Given the description of an element on the screen output the (x, y) to click on. 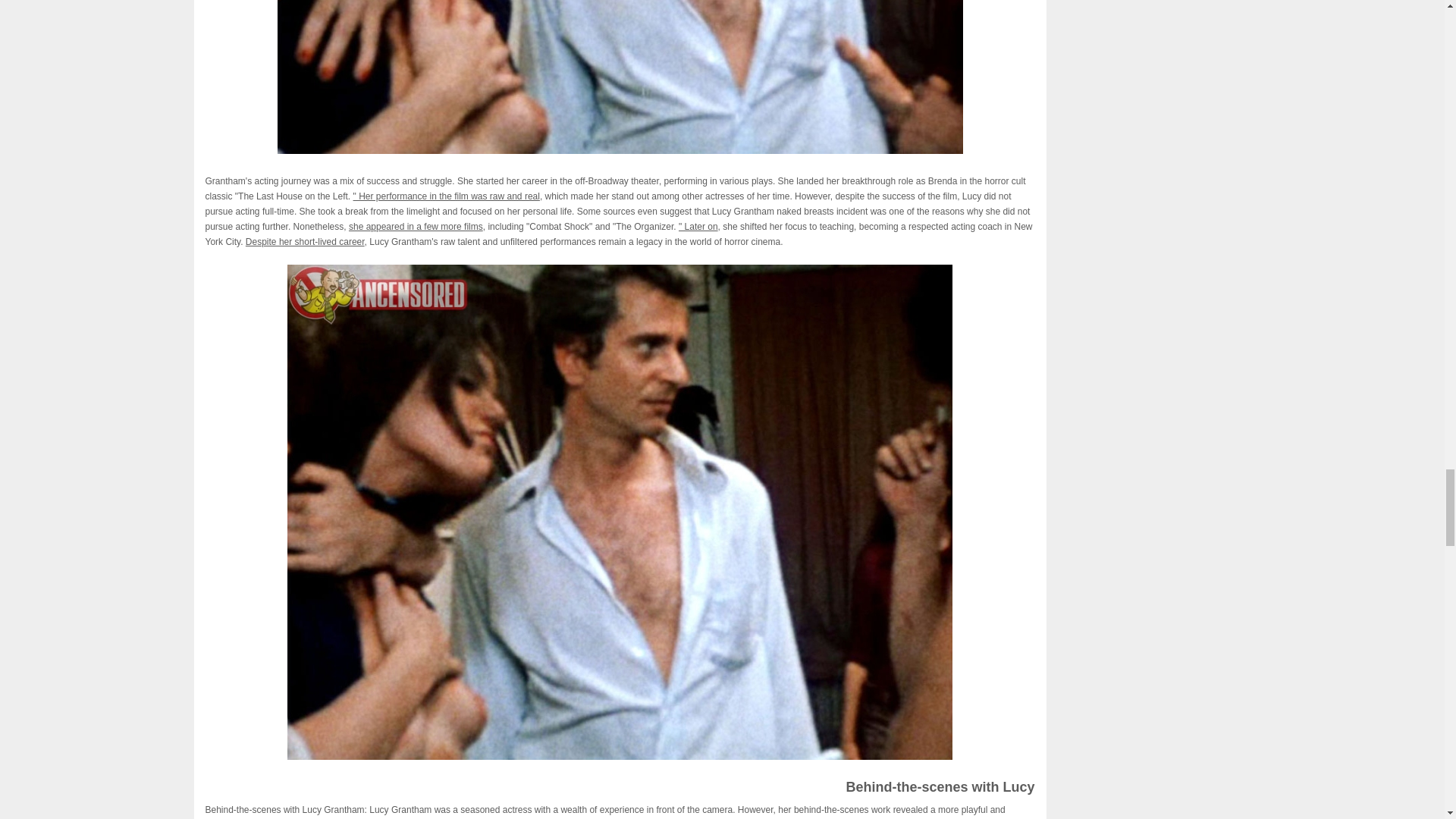
Lucy Grantham no panties (620, 76)
